Given the description of an element on the screen output the (x, y) to click on. 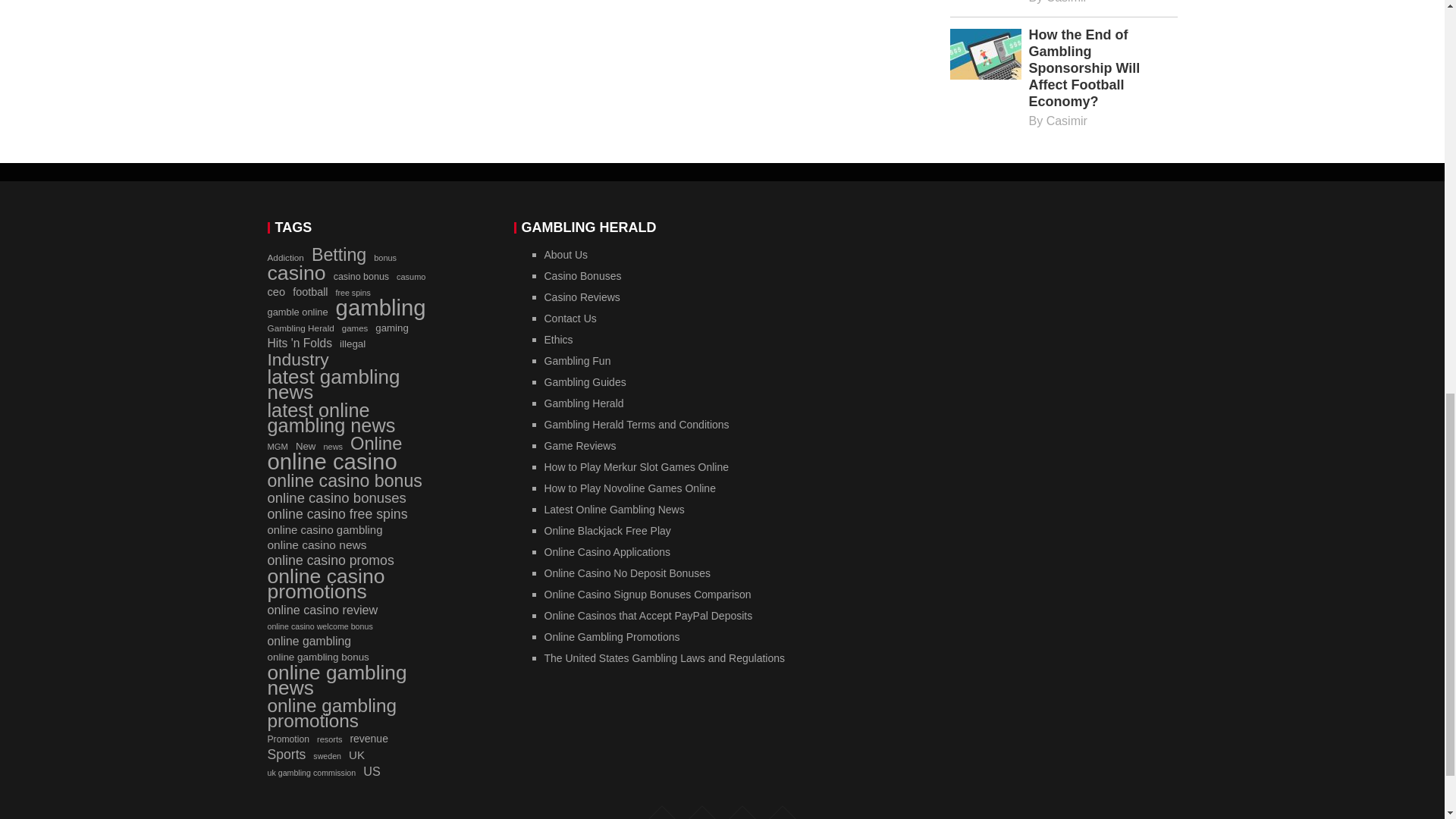
Posts by Casimir (1066, 2)
Posts by Casimir (1066, 120)
